Given the description of an element on the screen output the (x, y) to click on. 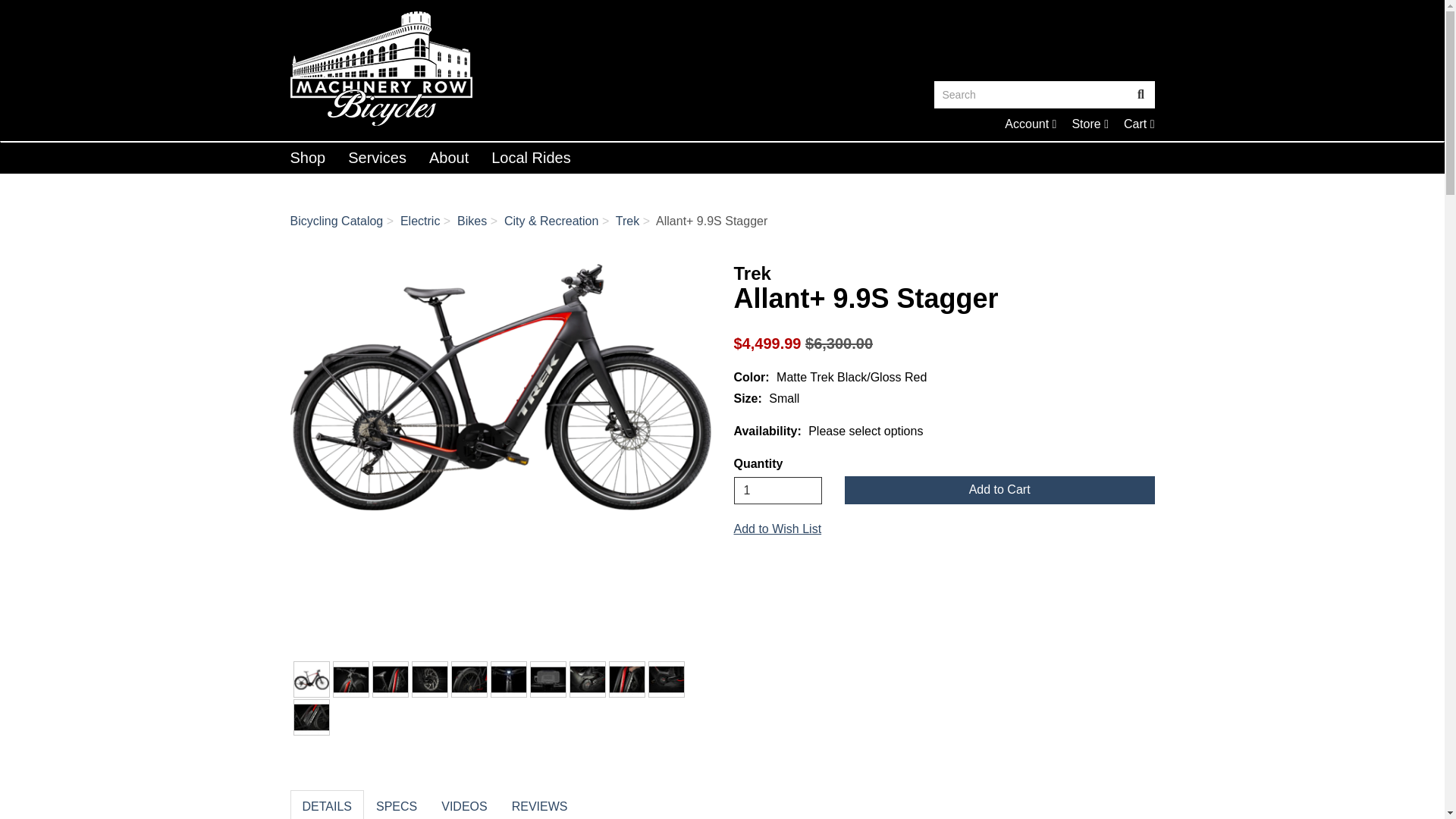
Store (1089, 123)
Machinery Row Bicycles Home Page (1030, 123)
Search (1089, 123)
Account (499, 68)
Shop (1031, 94)
1 (1030, 123)
Search (308, 157)
Cart (777, 490)
